Given the description of an element on the screen output the (x, y) to click on. 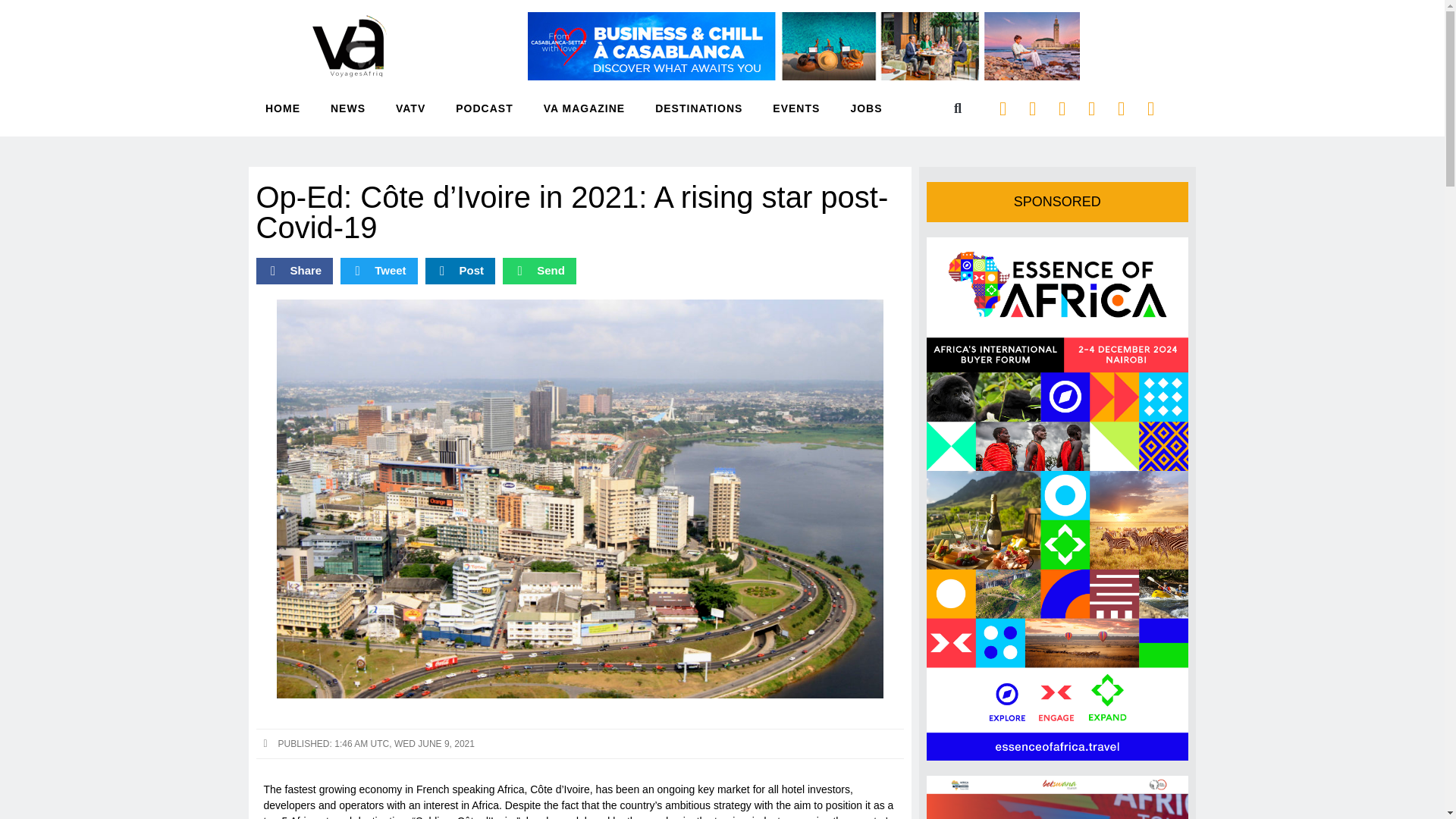
PODCAST (483, 108)
VA MAGAZINE (583, 108)
DESTINATIONS (698, 108)
